Given the description of an element on the screen output the (x, y) to click on. 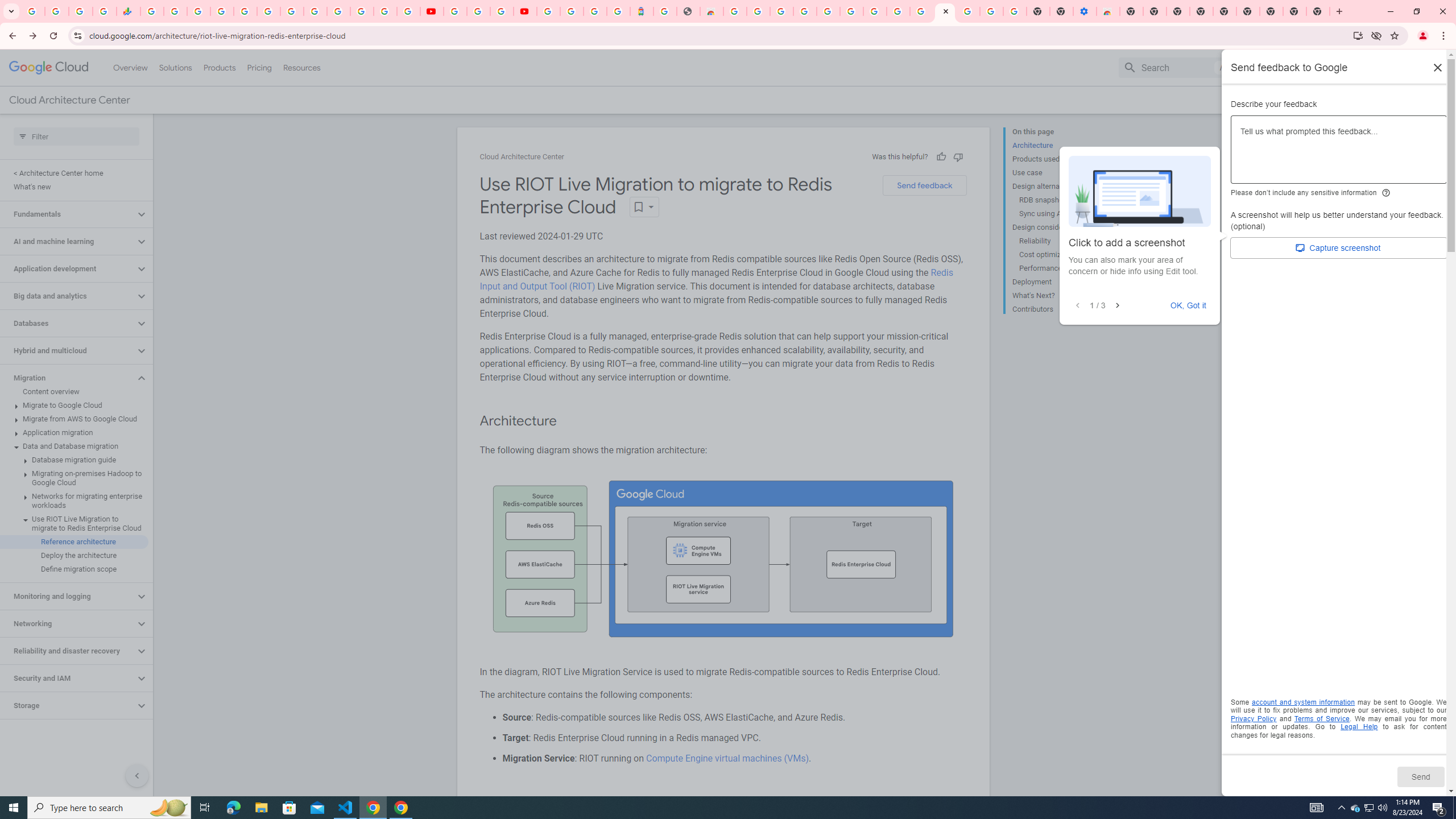
Migration (67, 377)
Chrome Web Store - Household (711, 11)
Turn cookies on or off - Computer - Google Account Help (1015, 11)
RDB snapshots (1062, 200)
Sign in - Google Accounts (547, 11)
Open dropdown (643, 206)
Search (1174, 67)
Use case (1058, 172)
Third-party cookies blocked (1376, 35)
